Given the description of an element on the screen output the (x, y) to click on. 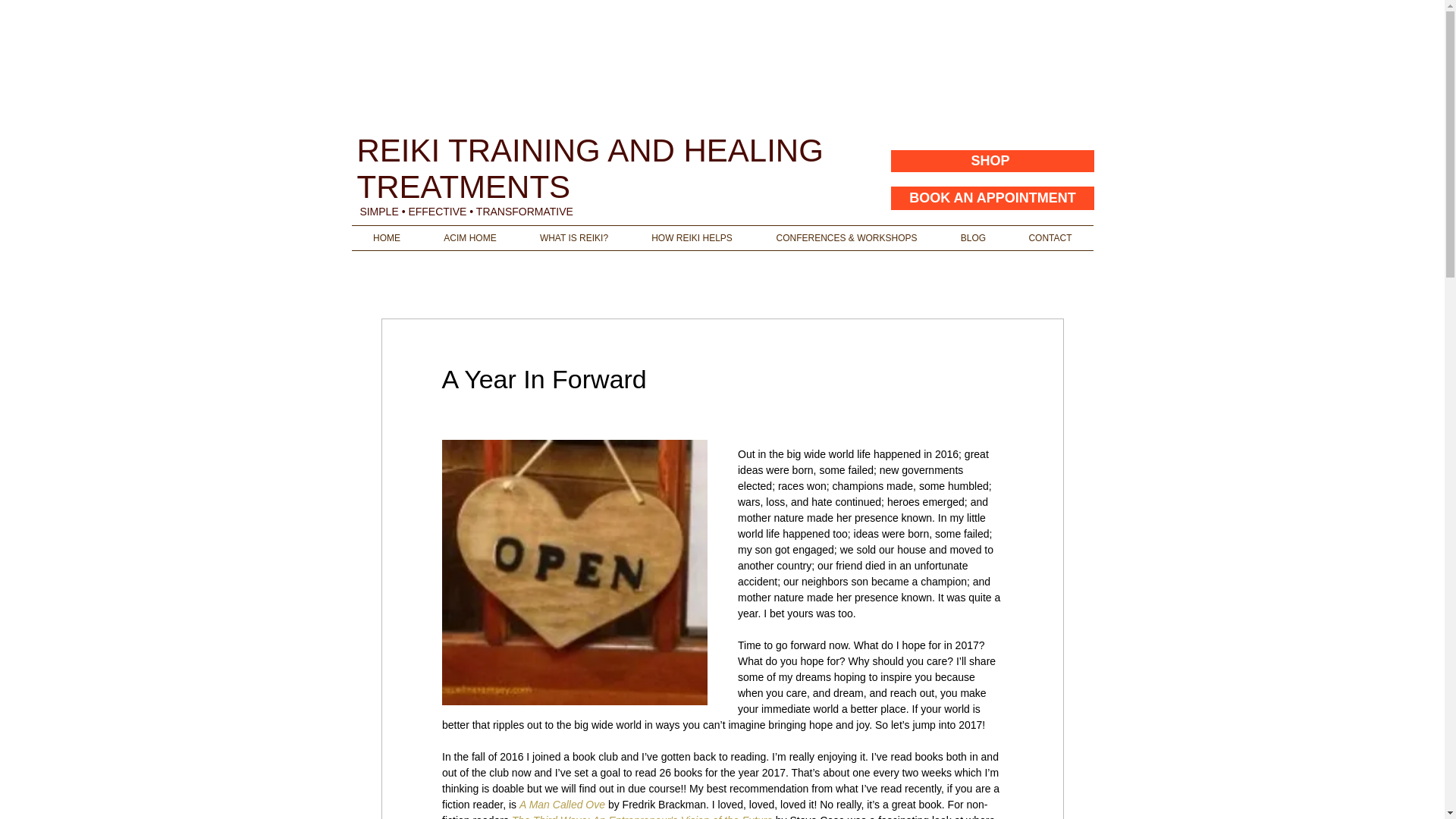
A Man Called Ove (561, 804)
WHAT IS REIKI? (574, 238)
BLOG (973, 238)
HOME (387, 238)
SHOP (990, 160)
BOOK AN APPOINTMENT (991, 197)
ACIM HOME (470, 238)
HOW REIKI HELPS (691, 238)
The Third Wave: An Entrepreneur's Vision of the Future (641, 816)
CONTACT (1050, 238)
